Given the description of an element on the screen output the (x, y) to click on. 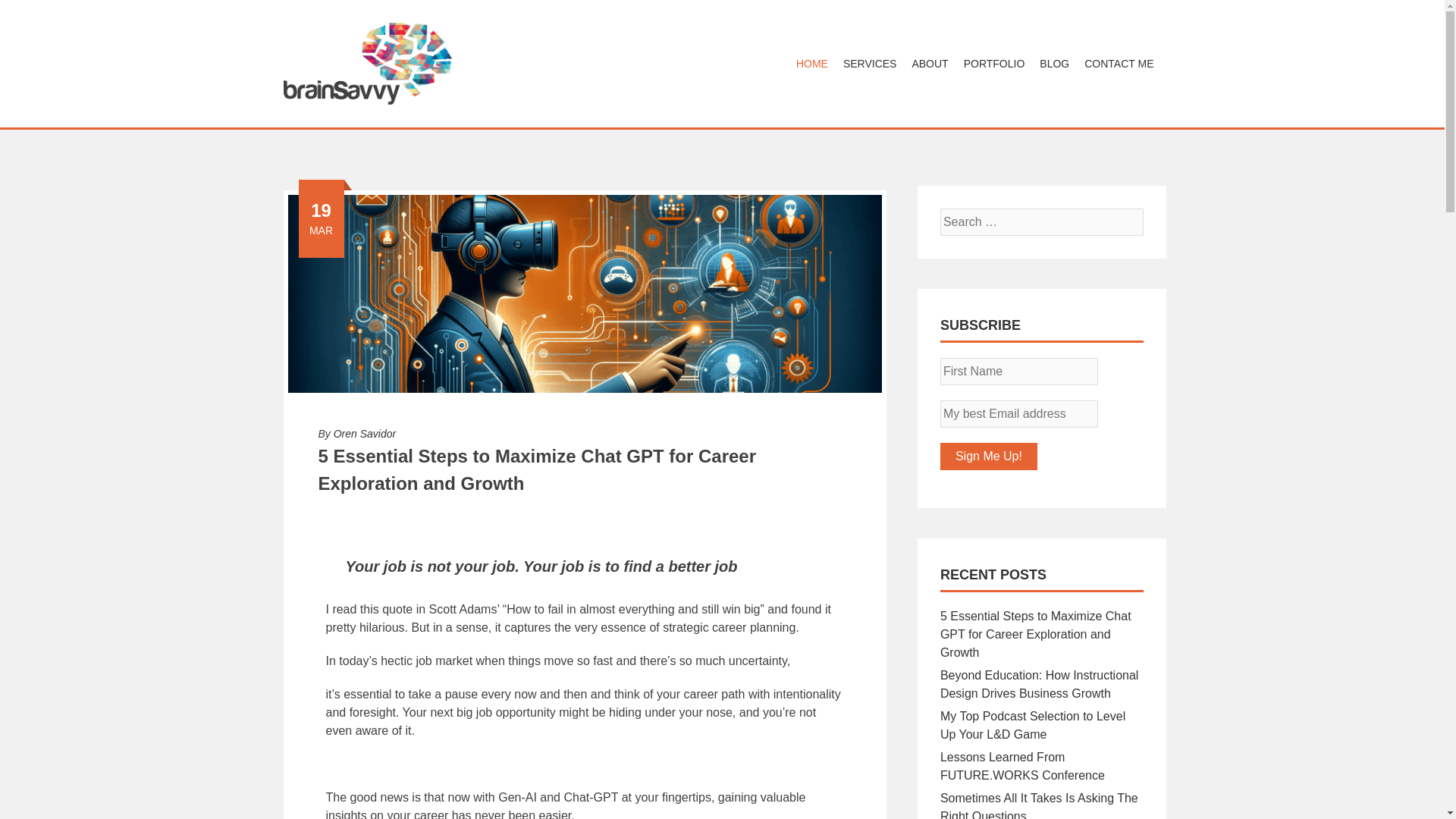
Sign Me Up! (988, 456)
SERVICES (869, 64)
PORTFOLIO (994, 64)
BLOG (1054, 64)
Oren Savidor (364, 433)
CONTACT ME (1118, 64)
ABOUT (929, 64)
Lessons Learned From FUTURE.WORKS Conference (1022, 766)
